Given the description of an element on the screen output the (x, y) to click on. 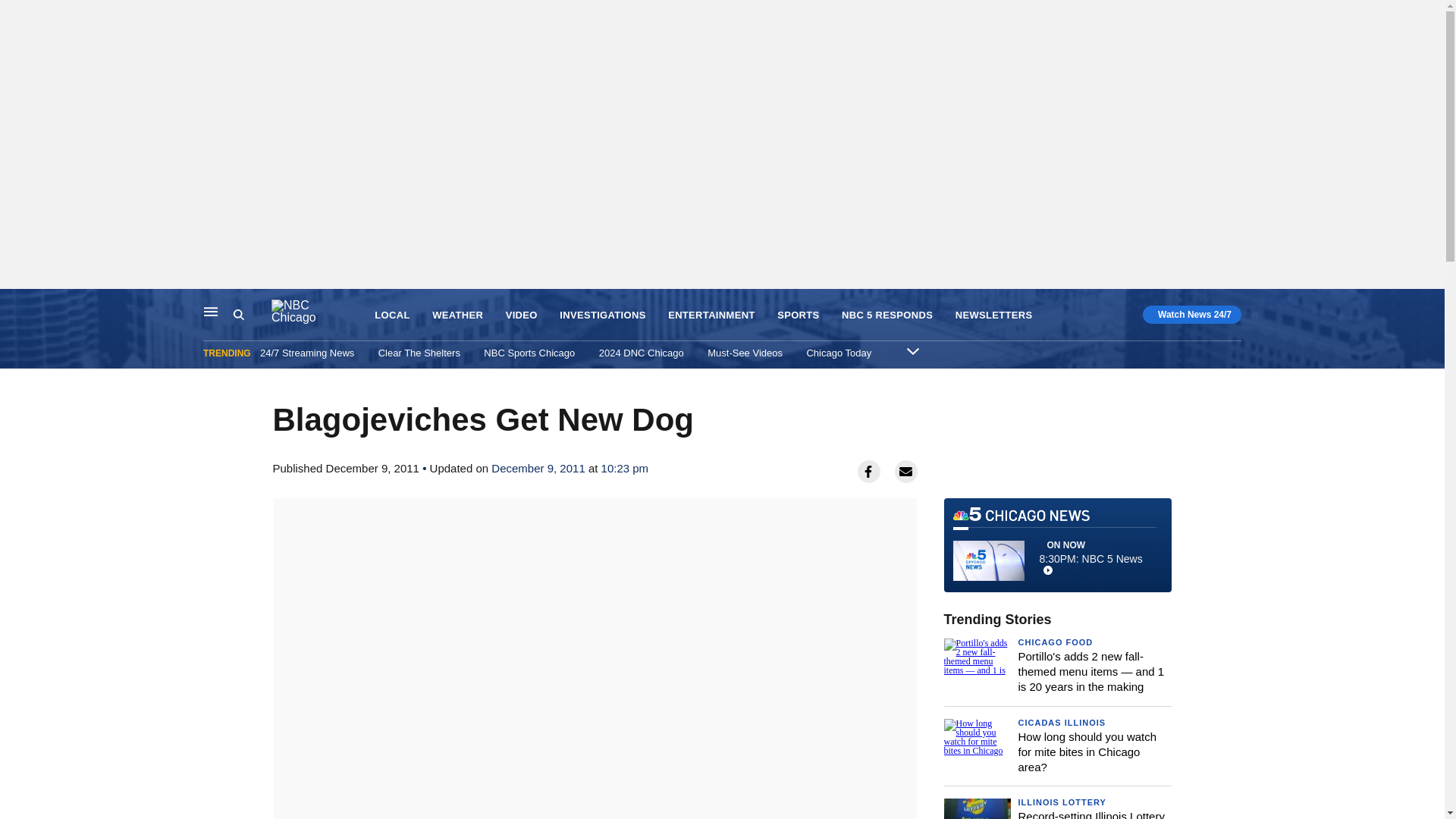
SPORTS (797, 315)
Search (1056, 544)
ENTERTAINMENT (252, 314)
Main Navigation (711, 315)
Chicago Today (210, 311)
NEWSLETTERS (838, 352)
CHICAGO FOOD (993, 315)
CICADAS ILLINOIS (1055, 642)
